Given the description of an element on the screen output the (x, y) to click on. 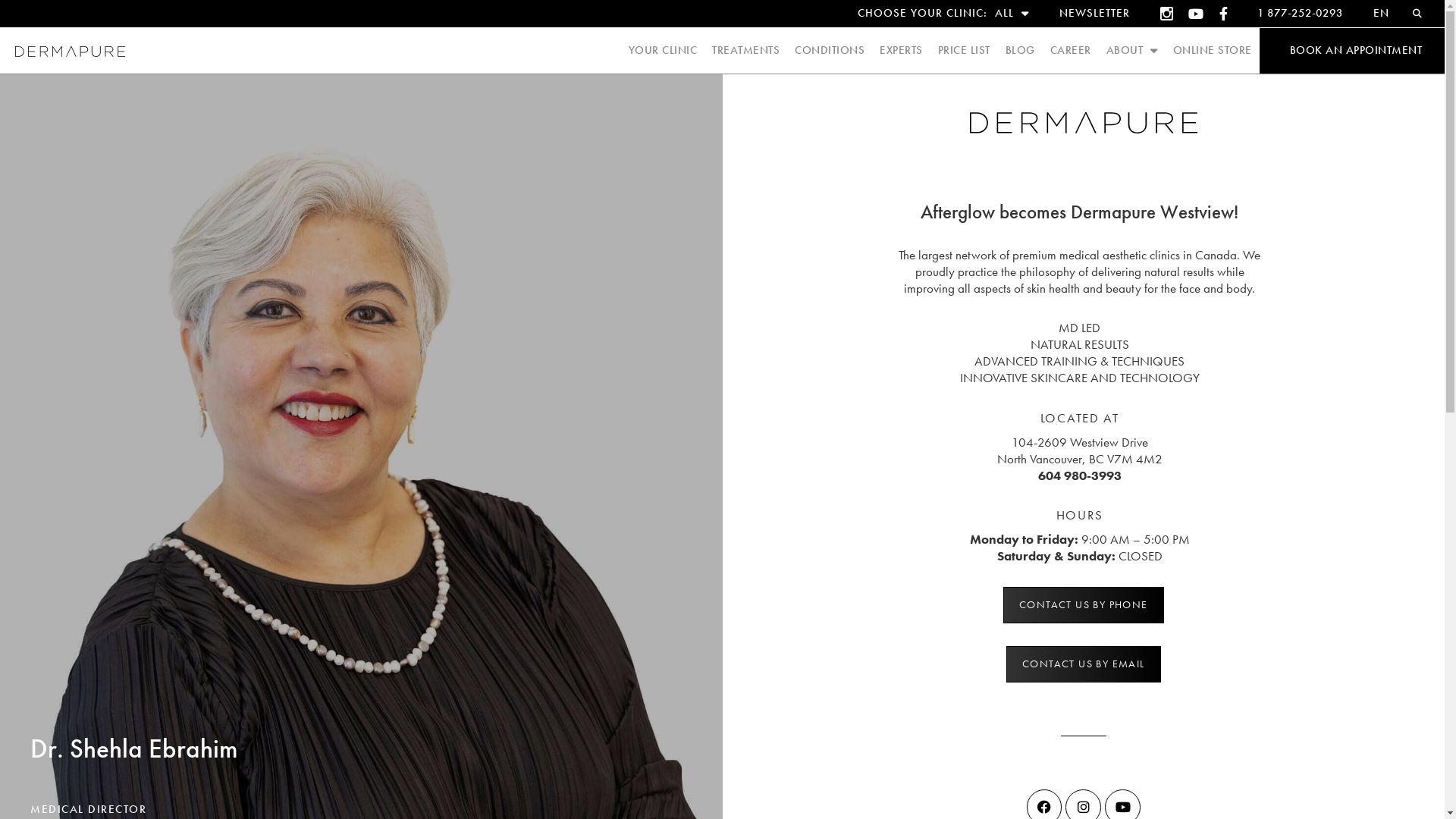
ABOUT Element type: text (1131, 50)
TREATMENTS Element type: text (745, 50)
YOUR CLINIC Element type: text (661, 50)
CONDITIONS Element type: text (829, 50)
1 877-252-0293 Element type: text (1300, 13)
EXPERTS Element type: text (900, 50)
BOOK AN APPOINTMENT Element type: text (1355, 50)
CONTACT US BY EMAIL Element type: text (1083, 664)
CAREER Element type: text (1069, 50)
NEWSLETTER Element type: text (1093, 13)
CHOOSE YOUR CLINIC:
ALL Element type: text (942, 13)
PRICE LIST Element type: text (963, 50)
BLOG Element type: text (1020, 50)
EN Element type: text (1381, 13)
CONTACT US BY PHONE Element type: text (1083, 604)
ONLINE STORE Element type: text (1211, 50)
